Given the description of an element on the screen output the (x, y) to click on. 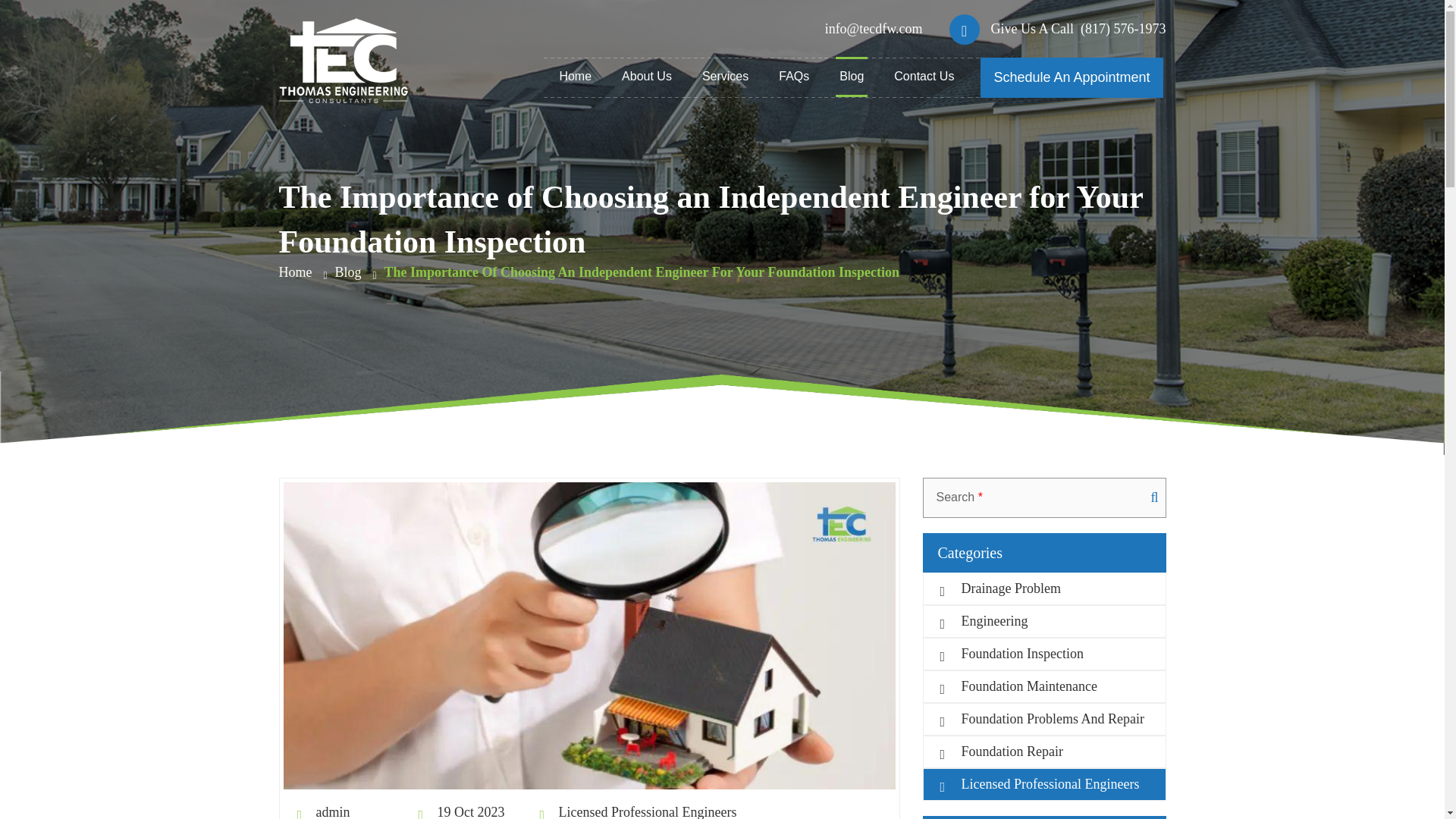
Foundation Maintenance (1043, 686)
About Us (646, 76)
FAQs (793, 76)
Home (296, 271)
Drainage Problem (1043, 588)
Contact Us (923, 76)
Licensed Professional Engineers (1043, 784)
Foundation Problems And Repair (1043, 718)
Engineering (1043, 621)
Foundation Inspection (1043, 654)
Home (574, 76)
Schedule An Appointment (1070, 77)
Blog (347, 271)
Foundation Repair (1043, 751)
Services (725, 76)
